Given the description of an element on the screen output the (x, y) to click on. 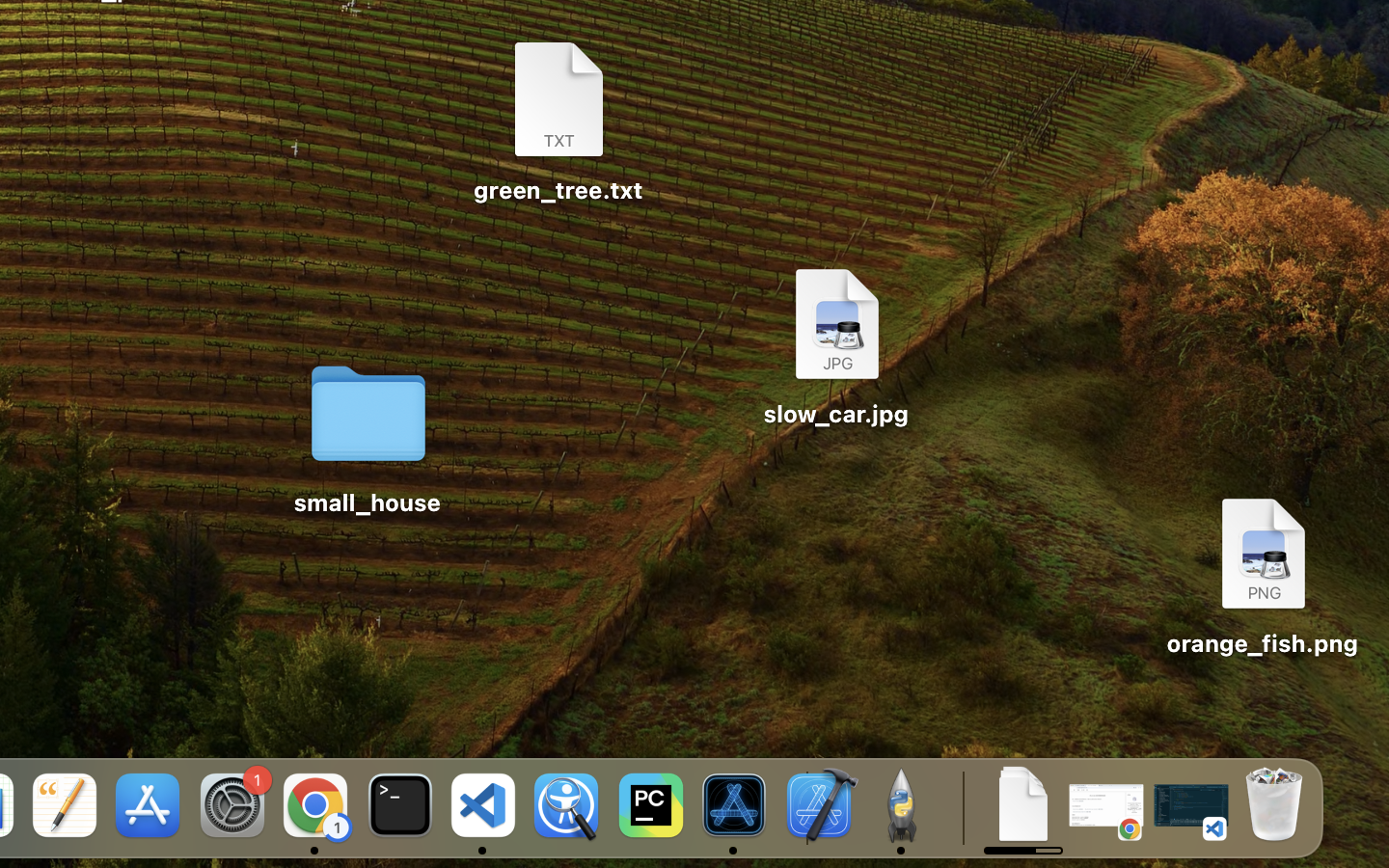
0.4285714328289032 Element type: AXDockItem (961, 806)
